Given the description of an element on the screen output the (x, y) to click on. 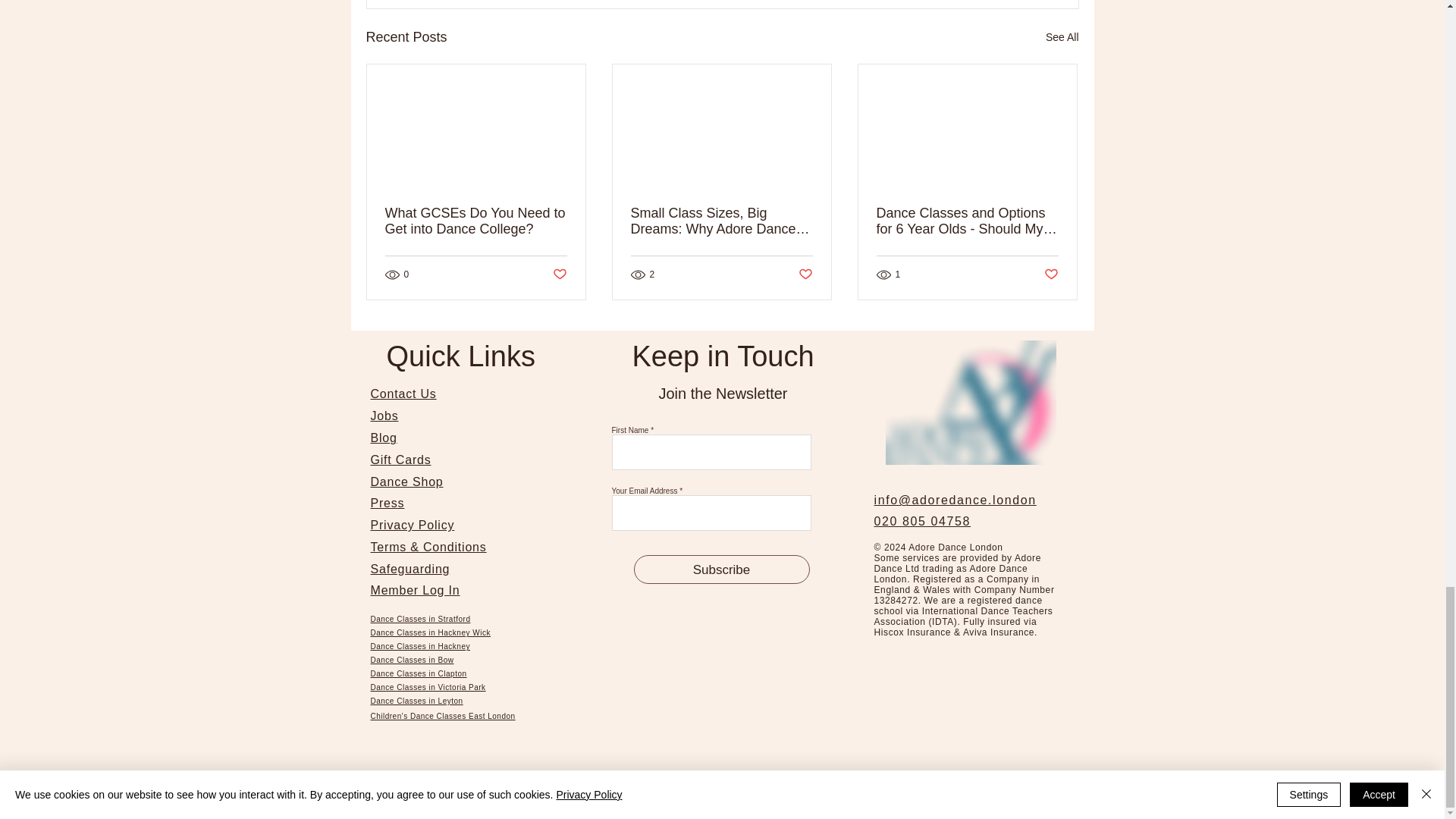
Post not marked as liked (1050, 274)
Post not marked as liked (558, 274)
Post not marked as liked (804, 274)
What GCSEs Do You Need to Get into Dance College? (476, 221)
See All (1061, 37)
Small Class Sizes, Big Dreams: Why Adore Dance is Different (721, 221)
